Given the description of an element on the screen output the (x, y) to click on. 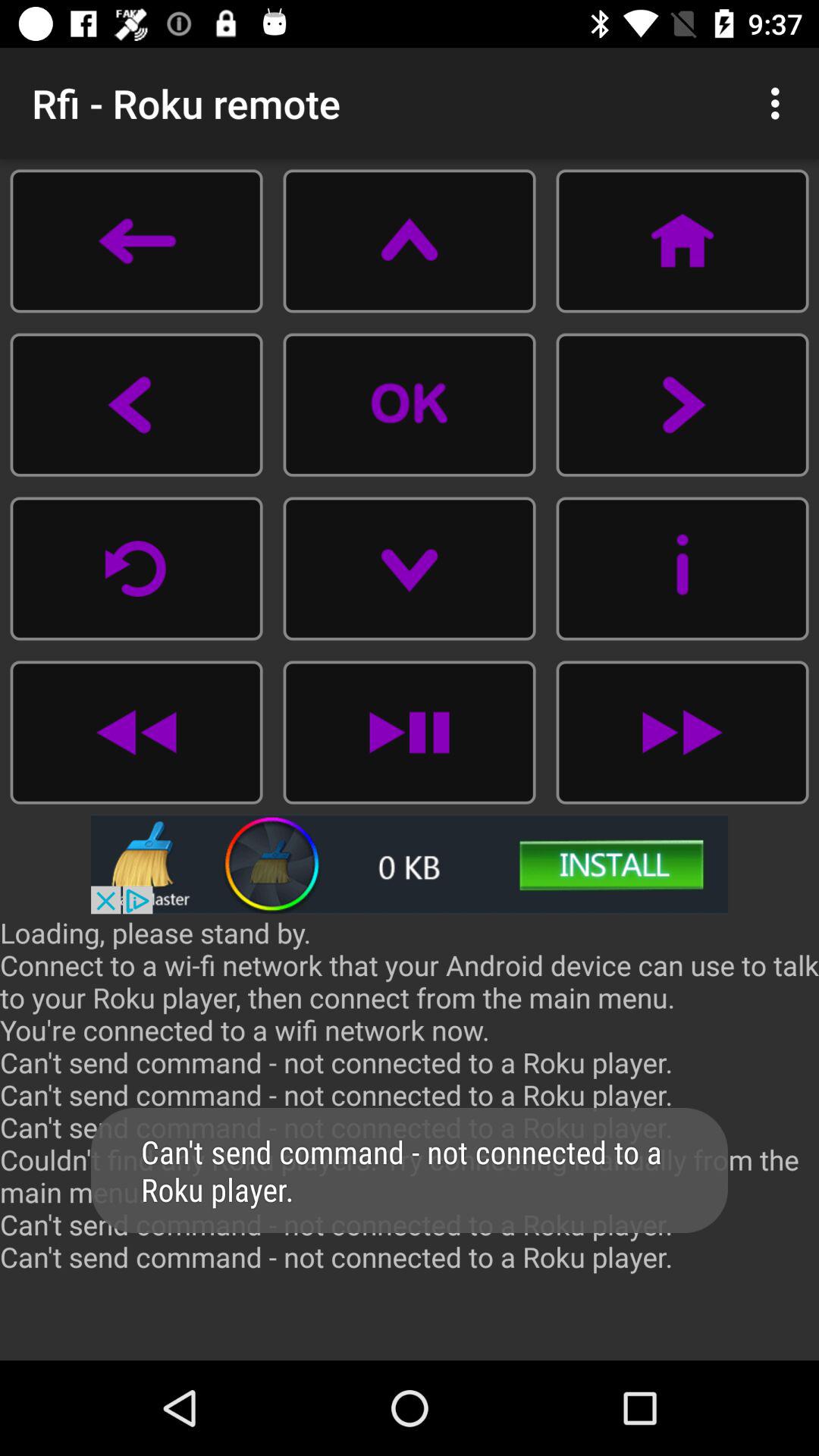
go to up (409, 240)
